Given the description of an element on the screen output the (x, y) to click on. 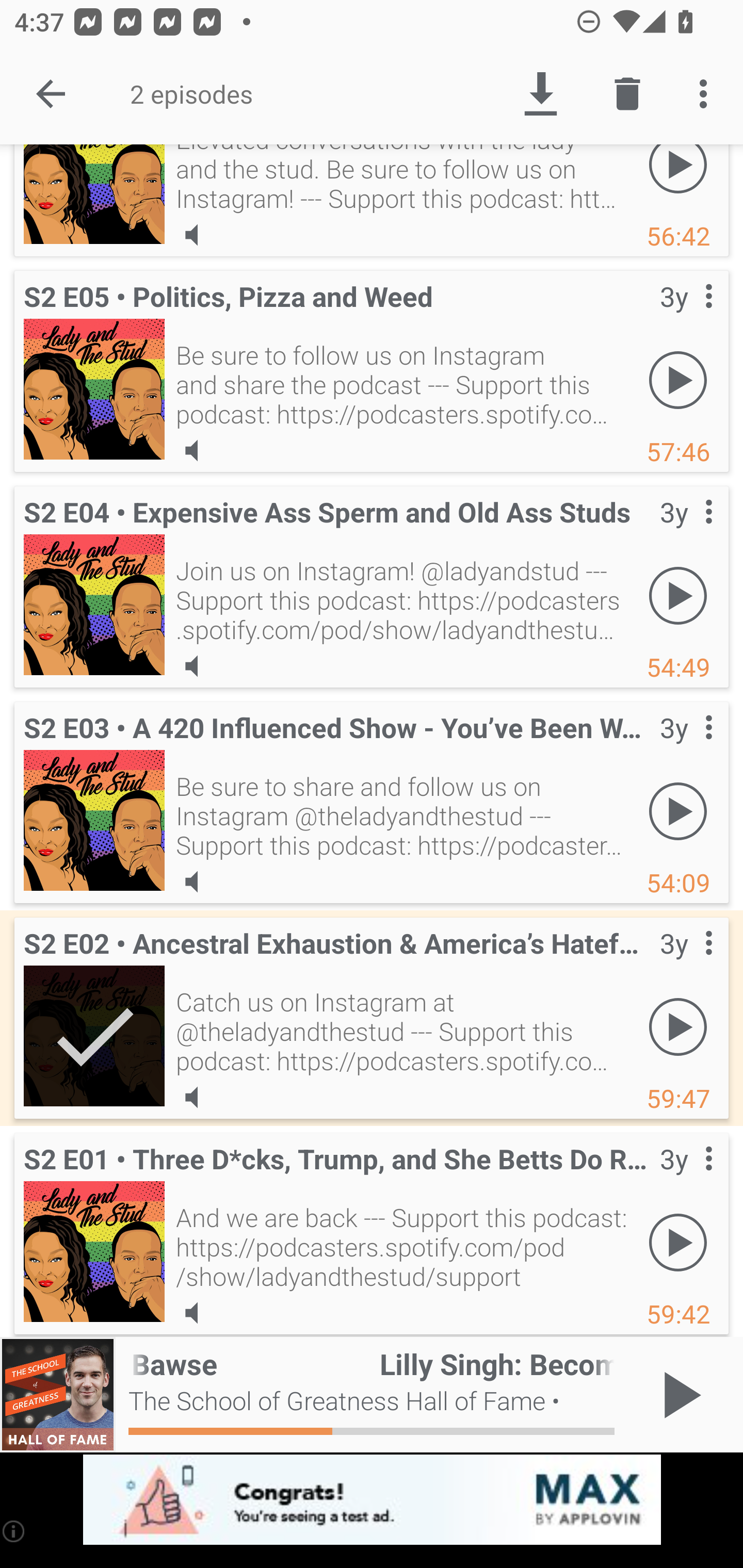
Done (50, 93)
Download (540, 93)
Delete episode (626, 93)
More options (706, 93)
Play (677, 179)
Contextual menu (685, 316)
Politics, Pizza and Weed (93, 388)
Play (677, 380)
Contextual menu (685, 532)
Expensive Ass Sperm and Old Ass Studs (93, 604)
Play (677, 595)
Contextual menu (685, 747)
A 420 Influenced Show - You’ve Been Warned (93, 819)
Play (677, 811)
Contextual menu (685, 963)
Play (677, 1026)
Contextual menu (685, 1178)
Three D*cks, Trump, and She Betts Do Right! (93, 1250)
Play (677, 1242)
Play / Pause (677, 1394)
app-monetization (371, 1500)
(i) (14, 1531)
